Given the description of an element on the screen output the (x, y) to click on. 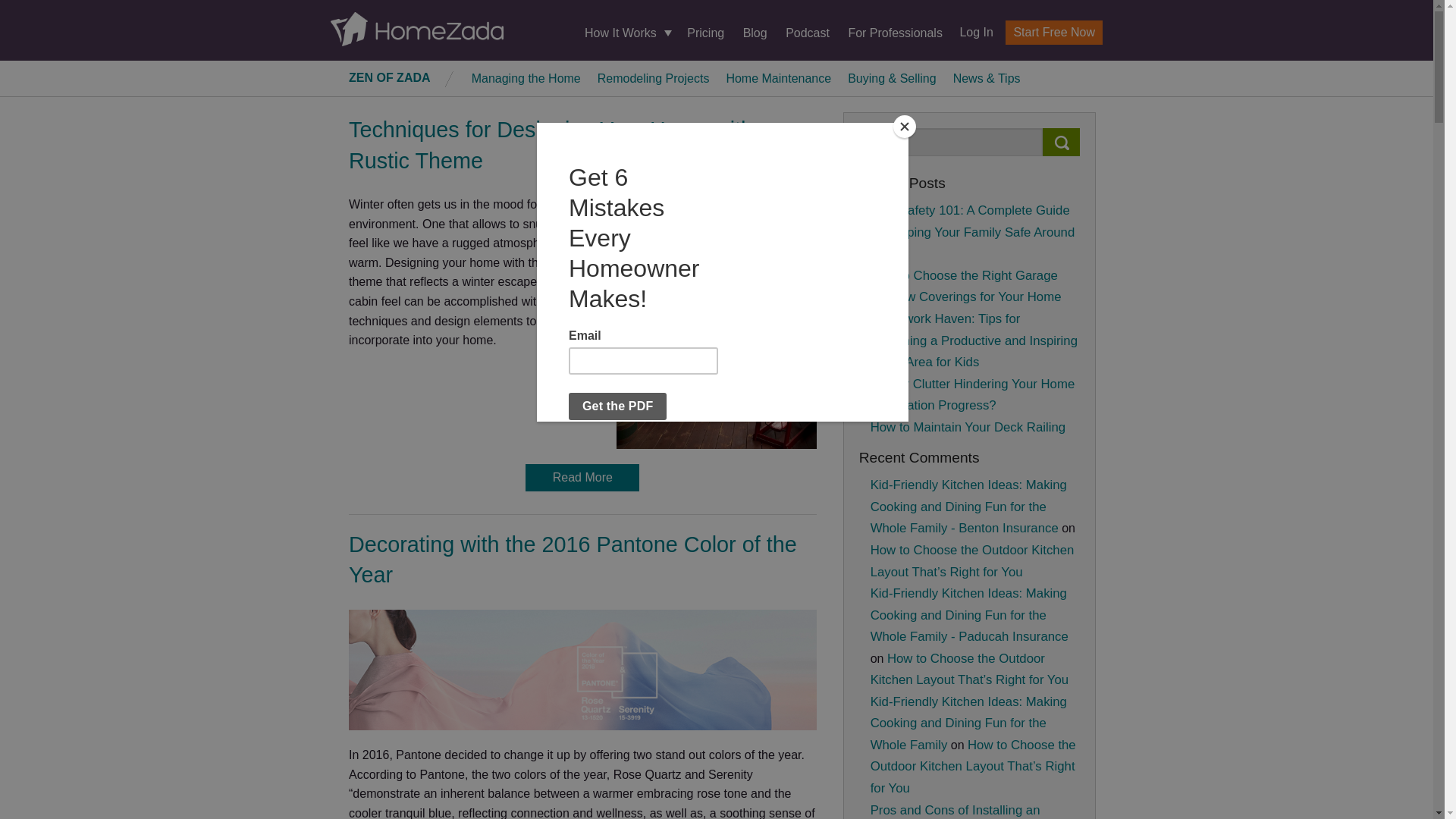
Read More (582, 477)
Remodeling Projects (653, 77)
Techniques for Designing Your Home with a Rustic Theme (560, 144)
Start Free Now (1054, 32)
Podcast (807, 32)
ZEN OF ZADA (389, 77)
Log In (969, 31)
Blog (754, 32)
For Professionals (894, 32)
Decorating with the 2016 Pantone Color of the Year (572, 559)
Pricing (705, 32)
Managing the Home (525, 77)
How It Works (626, 33)
Home Maintenance (778, 77)
